Given the description of an element on the screen output the (x, y) to click on. 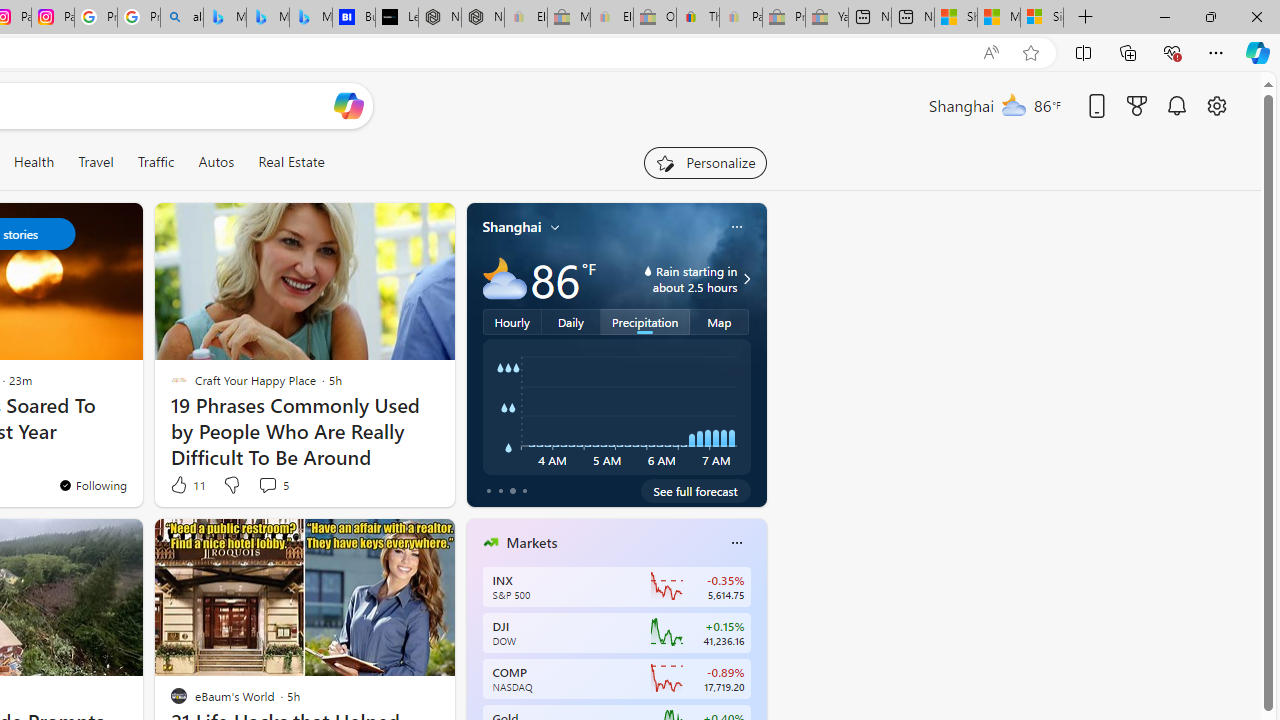
Mostly cloudy (504, 278)
water-drop-icon Rain starting in about 2.5 hours (674, 278)
Threats and offensive language policy | eBay (698, 17)
Hide this story (393, 542)
View comments 5 Comment (267, 485)
Daily (571, 321)
Press Room - eBay Inc. - Sleeping (783, 17)
Autos (216, 162)
Microsoft Bing Travel - Shangri-La Hotel Bangkok (310, 17)
Shanghai (511, 227)
alabama high school quarterback dies - Search (182, 17)
4 AM 5 AM 6 AM 7 AM (616, 407)
